Given the description of an element on the screen output the (x, y) to click on. 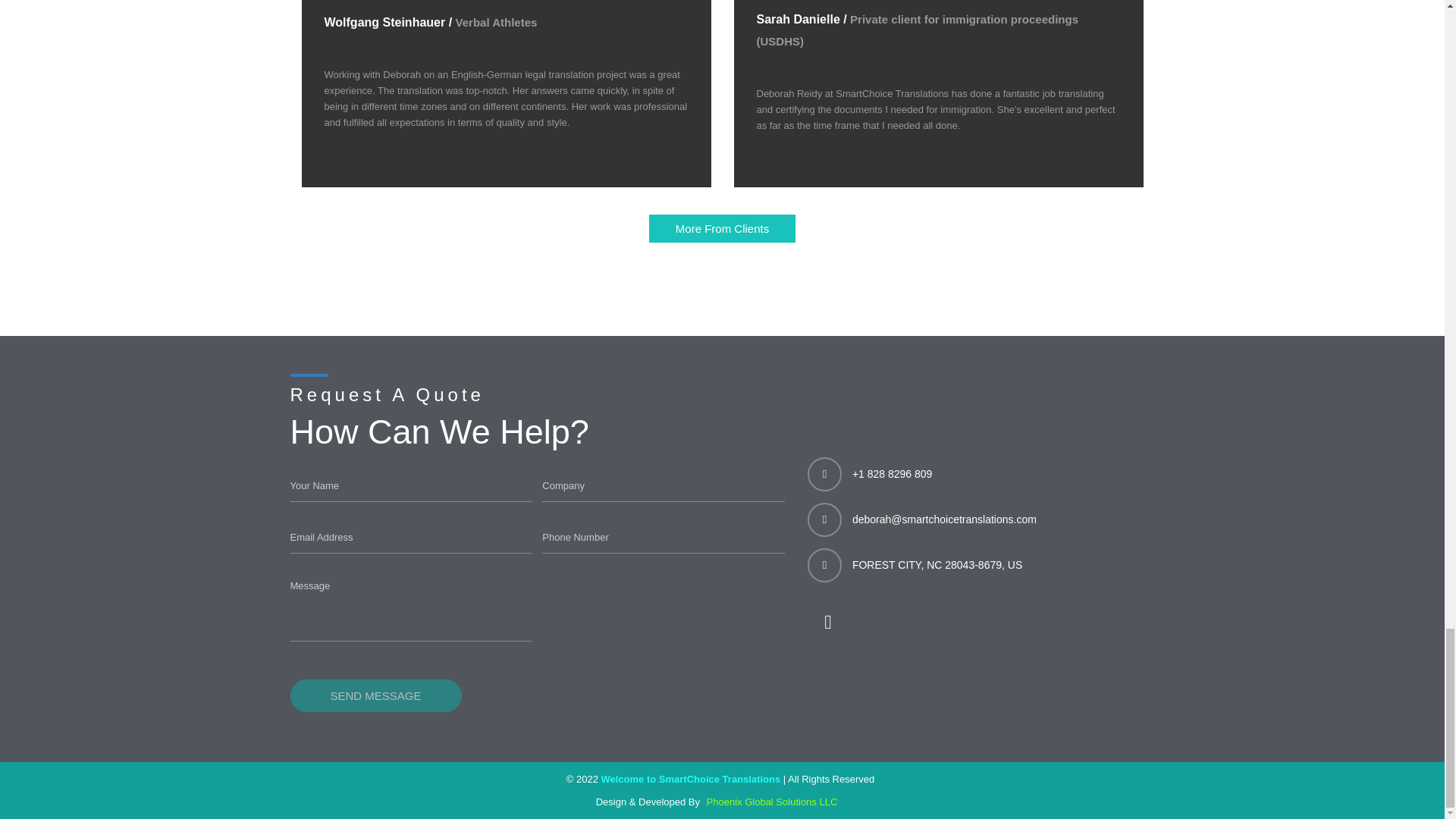
Send Message (375, 695)
Send Message (375, 695)
FOREST CITY, NC 28043-8679, US (936, 564)
More From Clients (721, 228)
Phoenix Global Solutions LLC (774, 801)
Why Choose Us (721, 228)
